Given the description of an element on the screen output the (x, y) to click on. 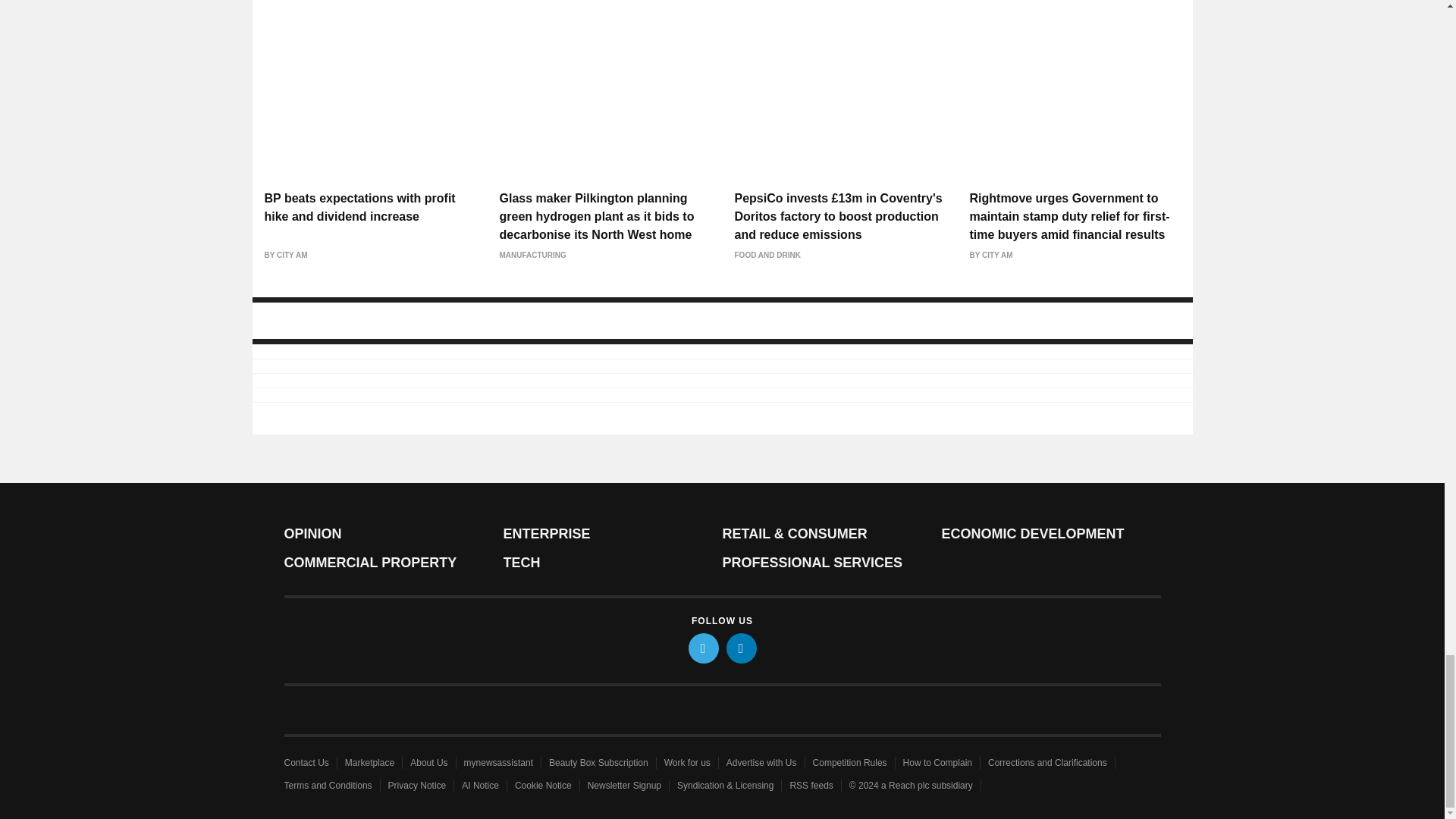
twitter (703, 648)
linkedin (741, 648)
